Given the description of an element on the screen output the (x, y) to click on. 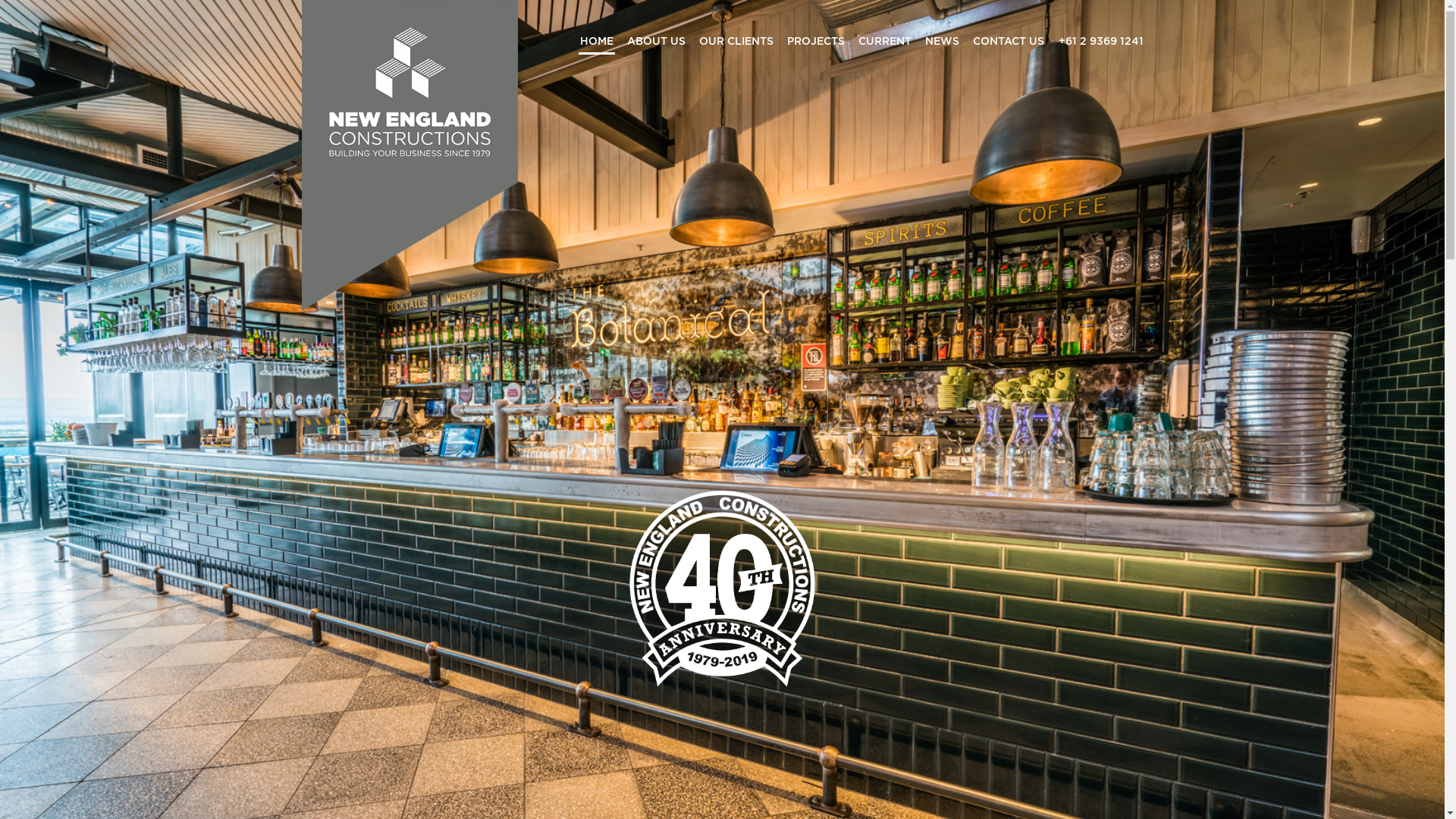
OUR CLIENTS Element type: text (736, 44)
NEWS Element type: text (941, 44)
CURRENT Element type: text (884, 44)
ABOUT US Element type: text (655, 44)
PROJECTS Element type: text (815, 44)
+61 2 9369 1241 Element type: text (1098, 40)
CONTACT US Element type: text (1007, 44)
HOME Element type: text (595, 44)
